Given the description of an element on the screen output the (x, y) to click on. 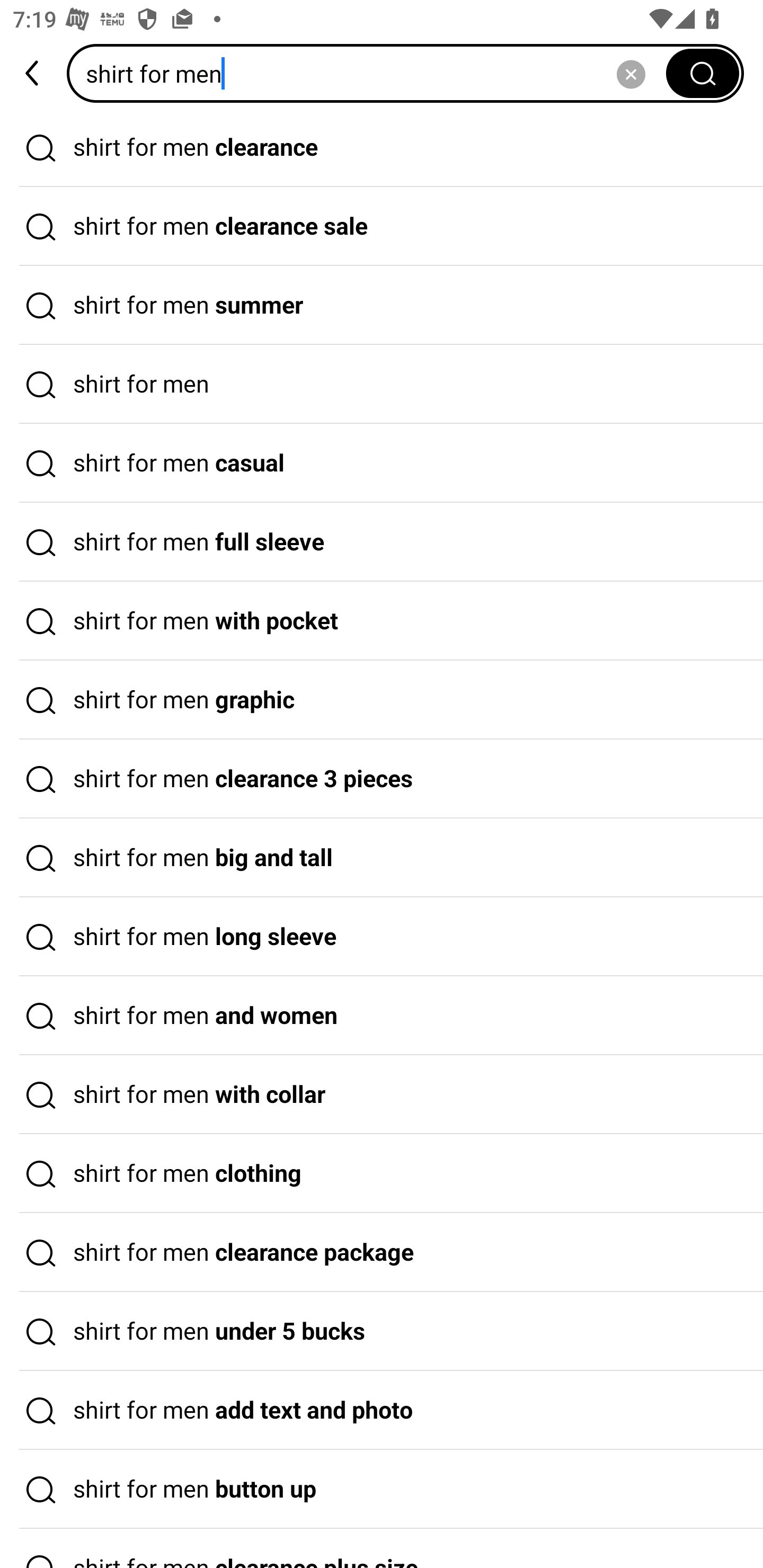
back (33, 72)
shirt for men (372, 73)
Delete search history (630, 73)
shirt for men clearance (381, 147)
shirt for men clearance sale (381, 226)
shirt for men summer (381, 305)
shirt for men (381, 383)
shirt for men casual (381, 463)
shirt for men full sleeve (381, 542)
shirt for men with pocket (381, 620)
shirt for men graphic (381, 700)
shirt for men clearance 3 pieces (381, 779)
shirt for men big and tall (381, 857)
shirt for men long sleeve (381, 936)
shirt for men and women (381, 1015)
shirt for men with collar (381, 1094)
shirt for men clothing (381, 1173)
shirt for men clearance package (381, 1252)
shirt for men under 5 bucks (381, 1331)
shirt for men add text and photo (381, 1410)
shirt for men button up (381, 1489)
